Given the description of an element on the screen output the (x, y) to click on. 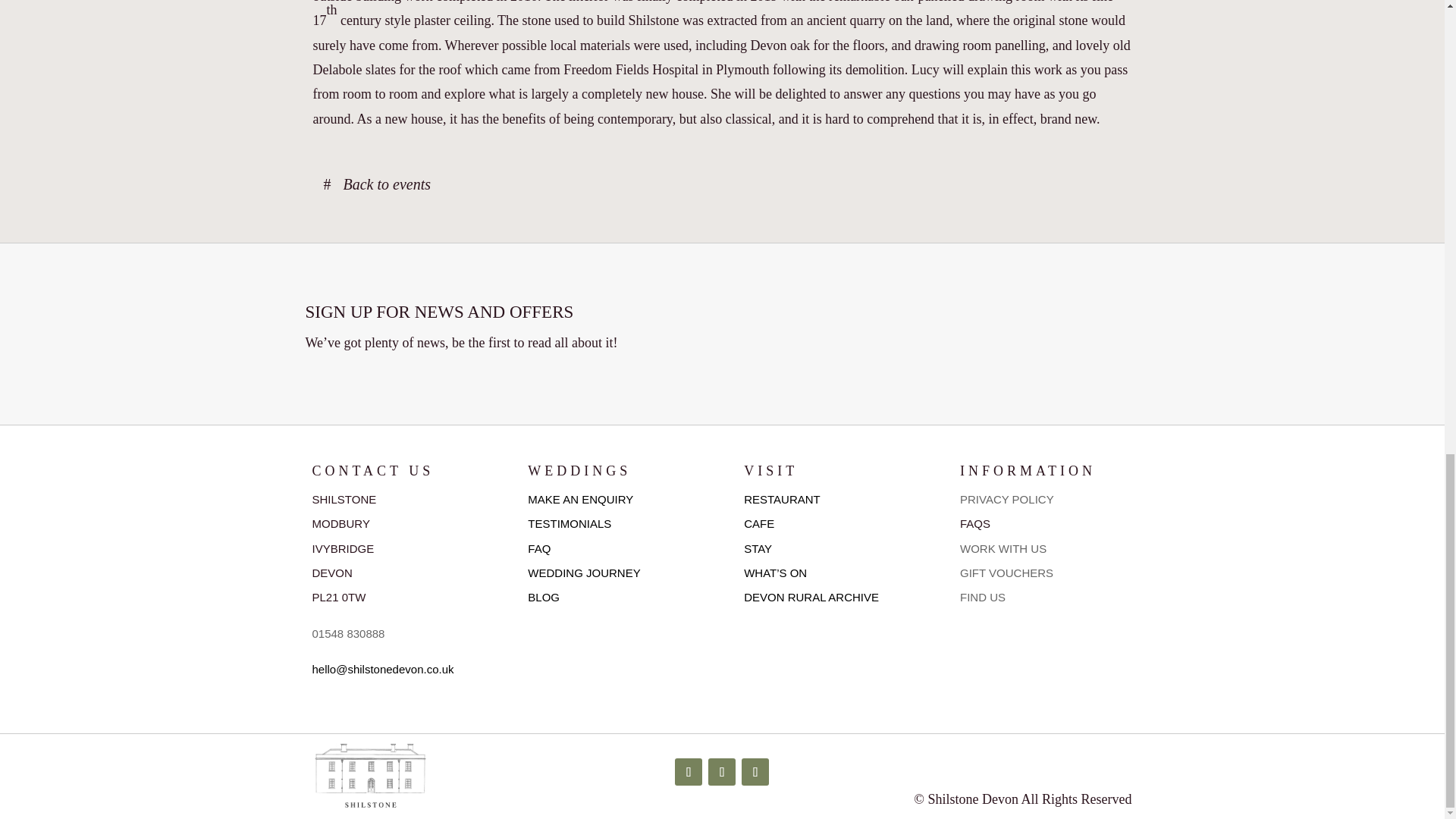
Back to events (377, 184)
Follow on Facebook (688, 771)
CONTACT US (373, 470)
S H I L S T O N E Logo Croped (369, 775)
Follow on TikTok (754, 771)
Follow on Instagram (721, 771)
01548 830888 (349, 633)
